Given the description of an element on the screen output the (x, y) to click on. 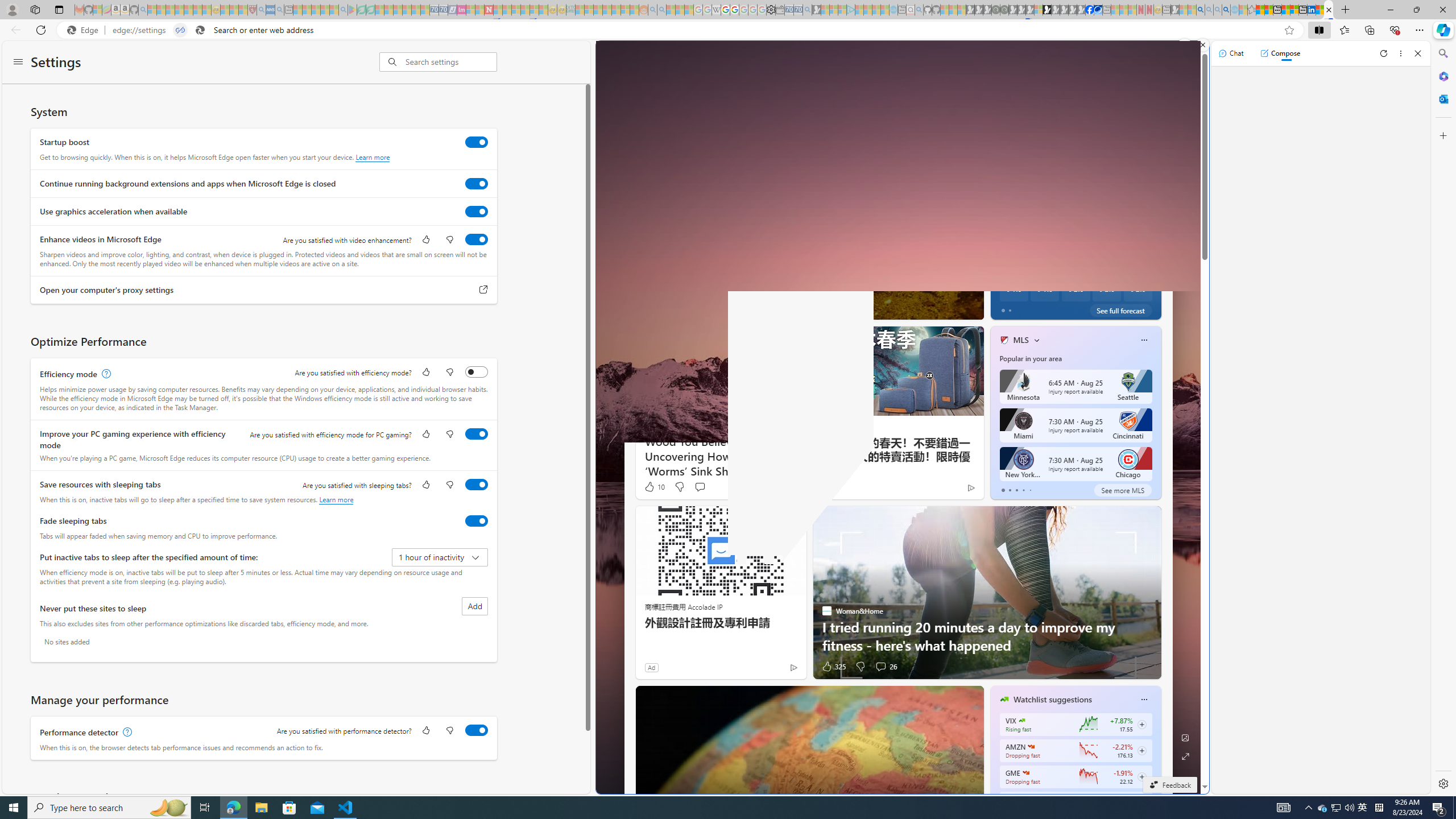
AMAZON.COM, INC. (1030, 746)
AutomationID: tab-28 (845, 308)
View comments 26 Comment (880, 666)
475 Like (656, 307)
AutomationID: tab-19 (803, 308)
AQI & Health | AirNow.gov (1098, 9)
Edit Background (1185, 737)
